Given the description of an element on the screen output the (x, y) to click on. 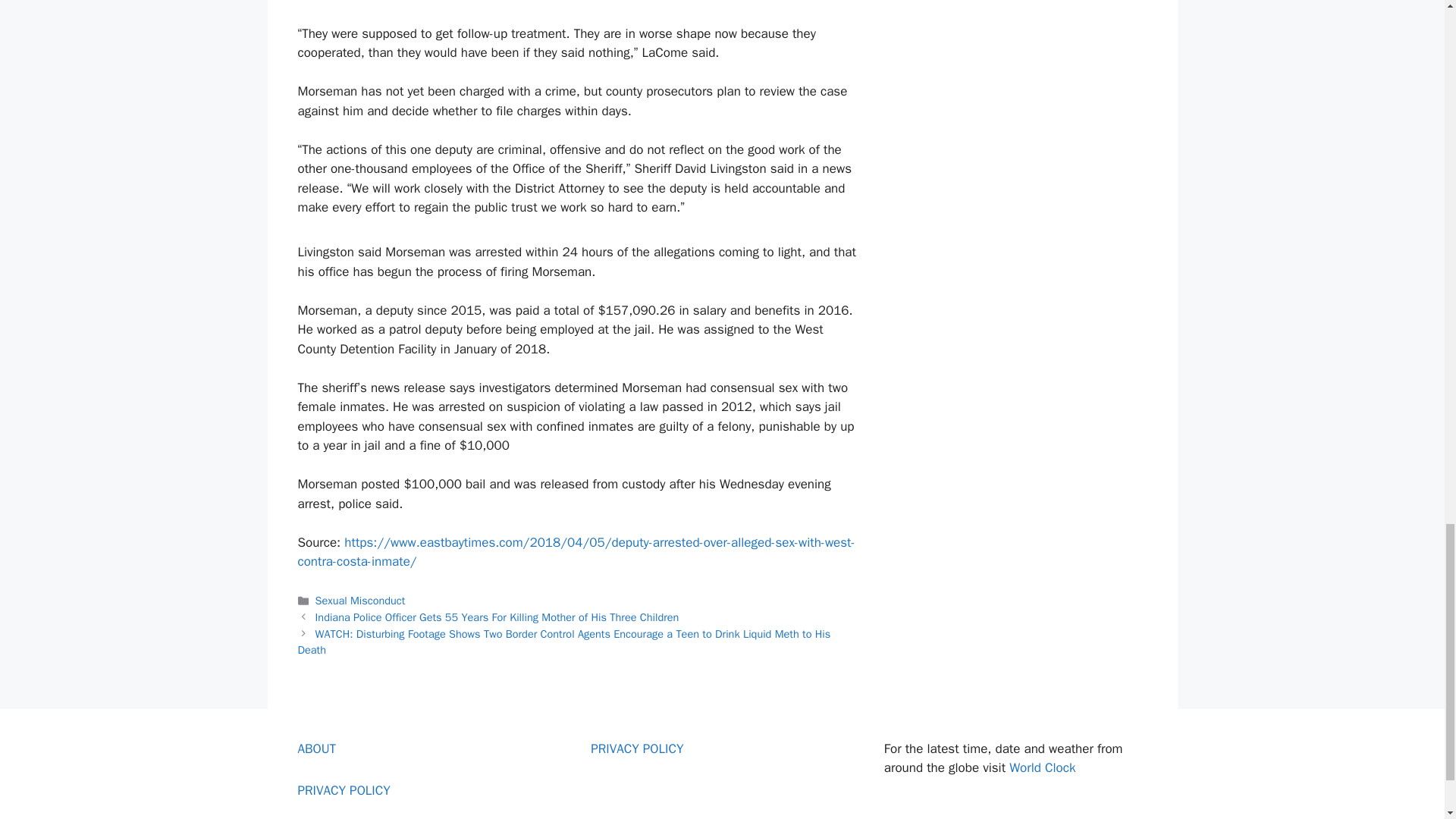
World Clock (1042, 767)
Sexual Misconduct (360, 600)
PRIVACY POLICY (636, 748)
ABOUT (316, 748)
PRIVACY POLICY (343, 790)
